Given the description of an element on the screen output the (x, y) to click on. 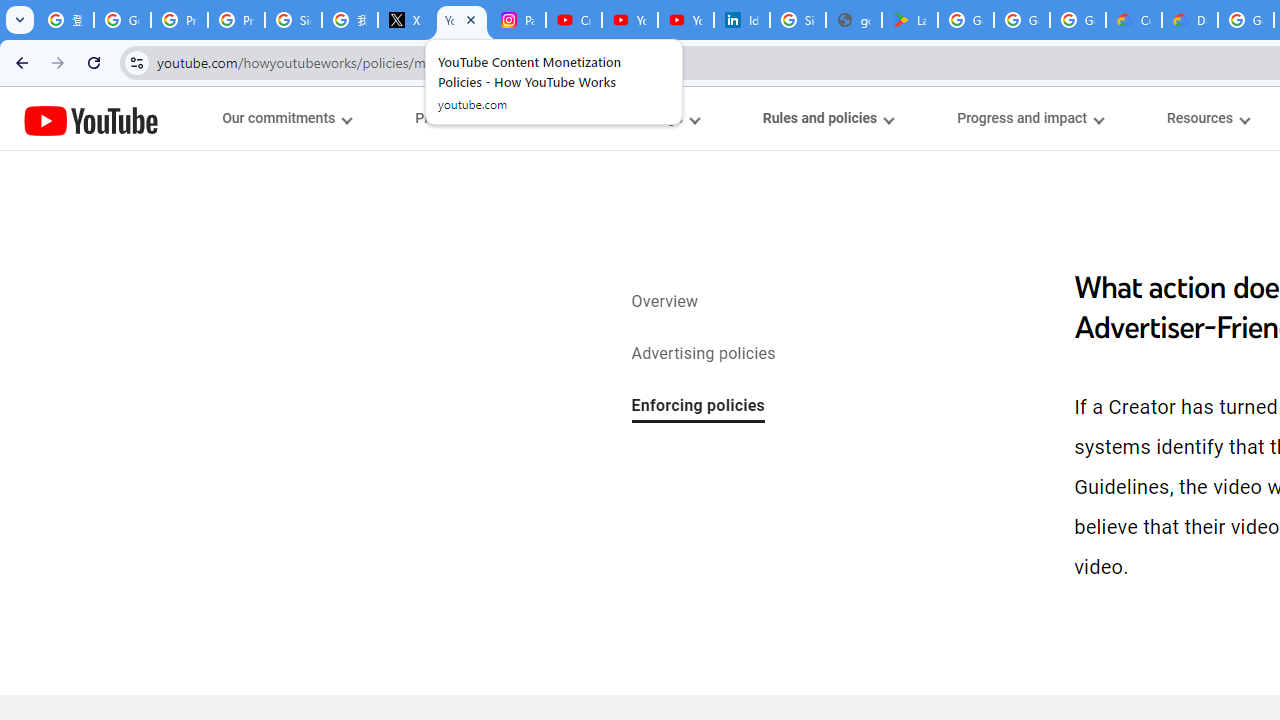
JUMP TO CONTENT (209, 119)
YouTube Content Monetization Policies - How YouTube Works (461, 20)
User settings menupopup (648, 118)
Progress and impact menupopup (1030, 118)
Enforcing policies (698, 407)
View site information (136, 62)
Advertising policies (703, 354)
google_privacy_policy_en.pdf (853, 20)
Google Workspace - Specific Terms (1077, 20)
Search tabs (20, 20)
Forward (57, 62)
Sign in - Google Accounts (293, 20)
Resources menupopup (1208, 118)
